Given the description of an element on the screen output the (x, y) to click on. 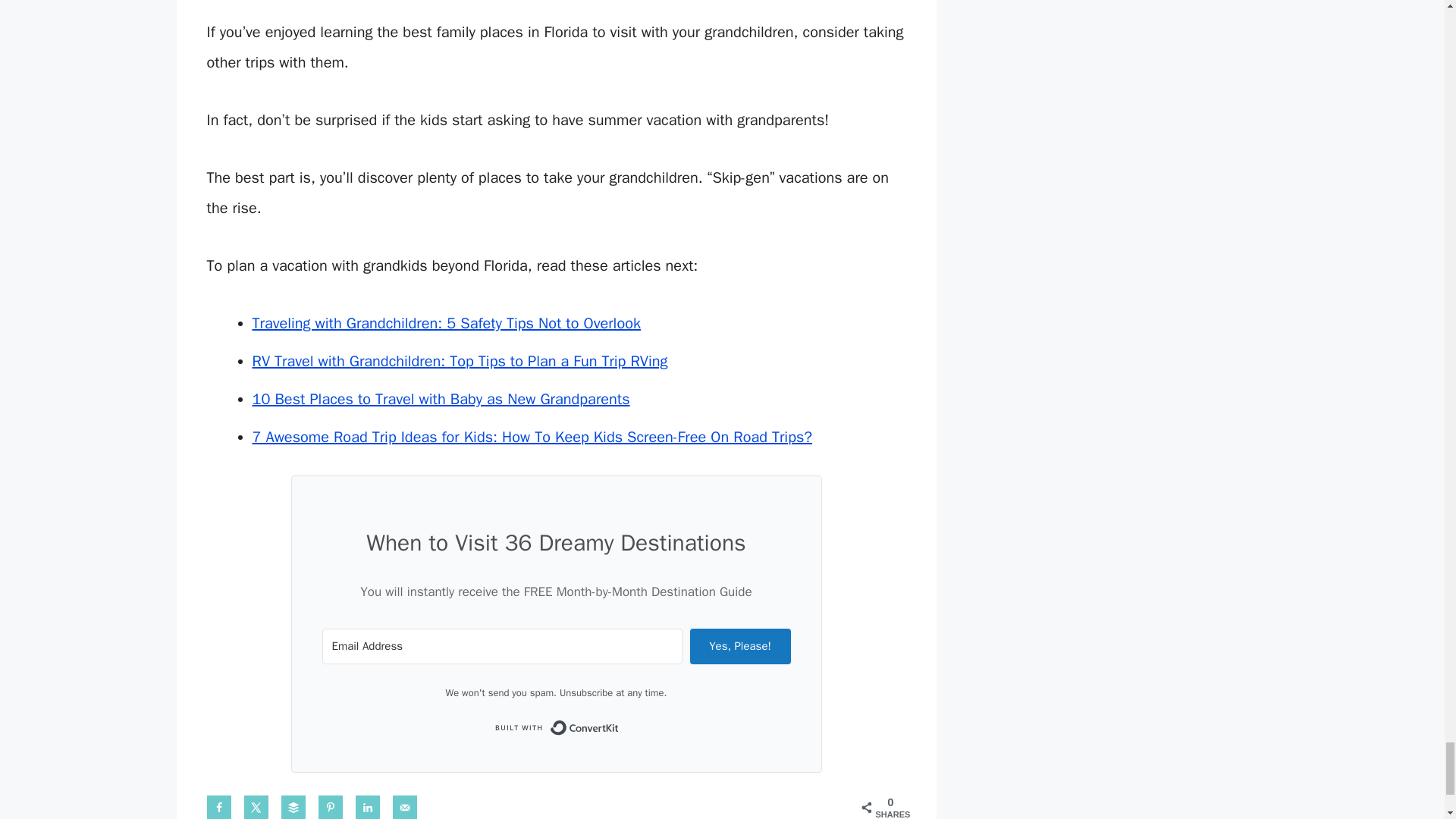
Share on LinkedIn (367, 807)
Save to Pinterest (330, 807)
Share on X (255, 807)
Share on Buffer (293, 807)
Send over email (404, 807)
Share on Facebook (218, 807)
